Given the description of an element on the screen output the (x, y) to click on. 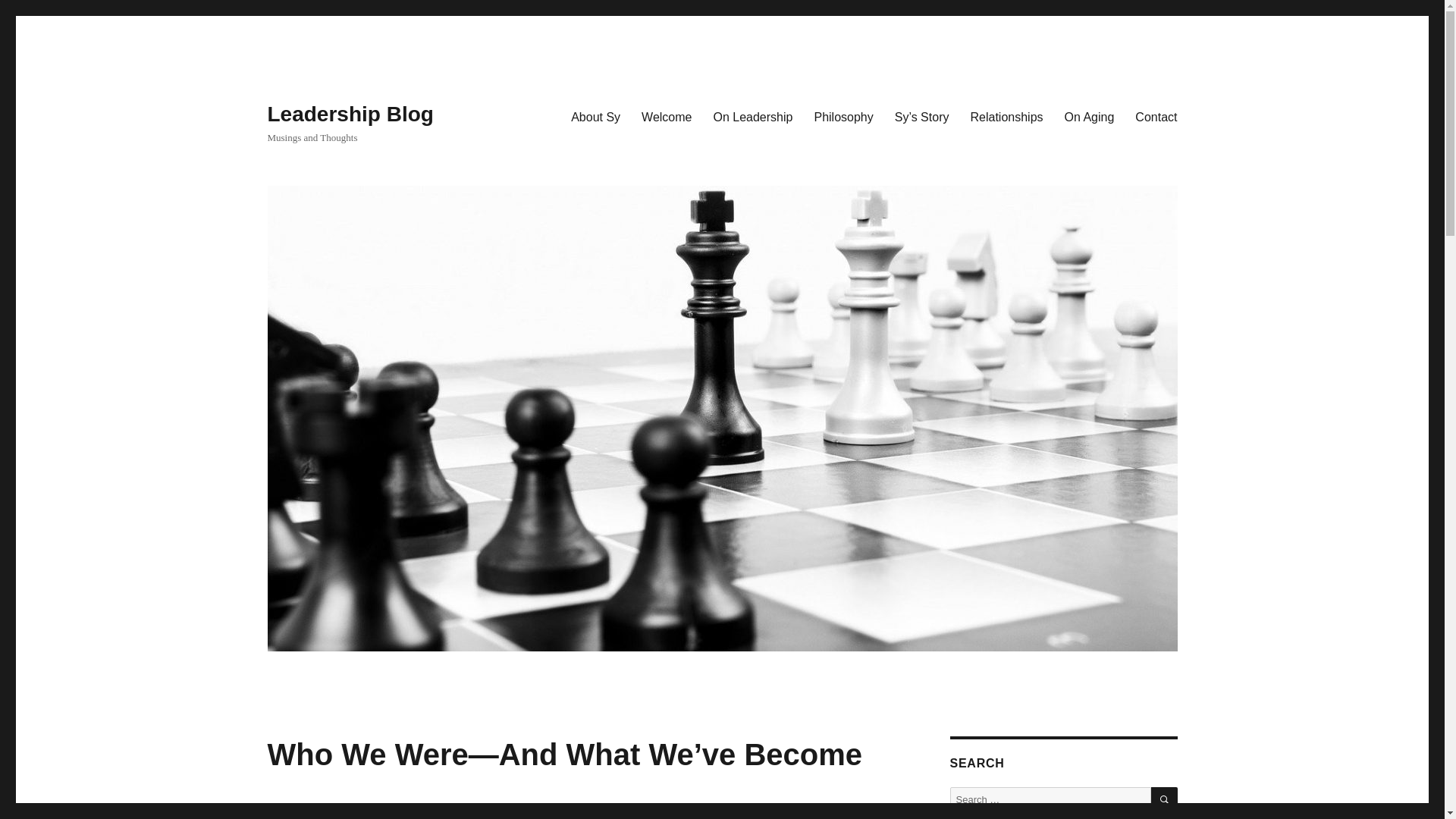
On Leadership (752, 116)
Leadership Blog (349, 114)
About Sy (595, 116)
SEARCH (1164, 800)
Relationships (1005, 116)
Welcome (665, 116)
On Aging (1089, 116)
Contact (1156, 116)
Philosophy (843, 116)
